Given the description of an element on the screen output the (x, y) to click on. 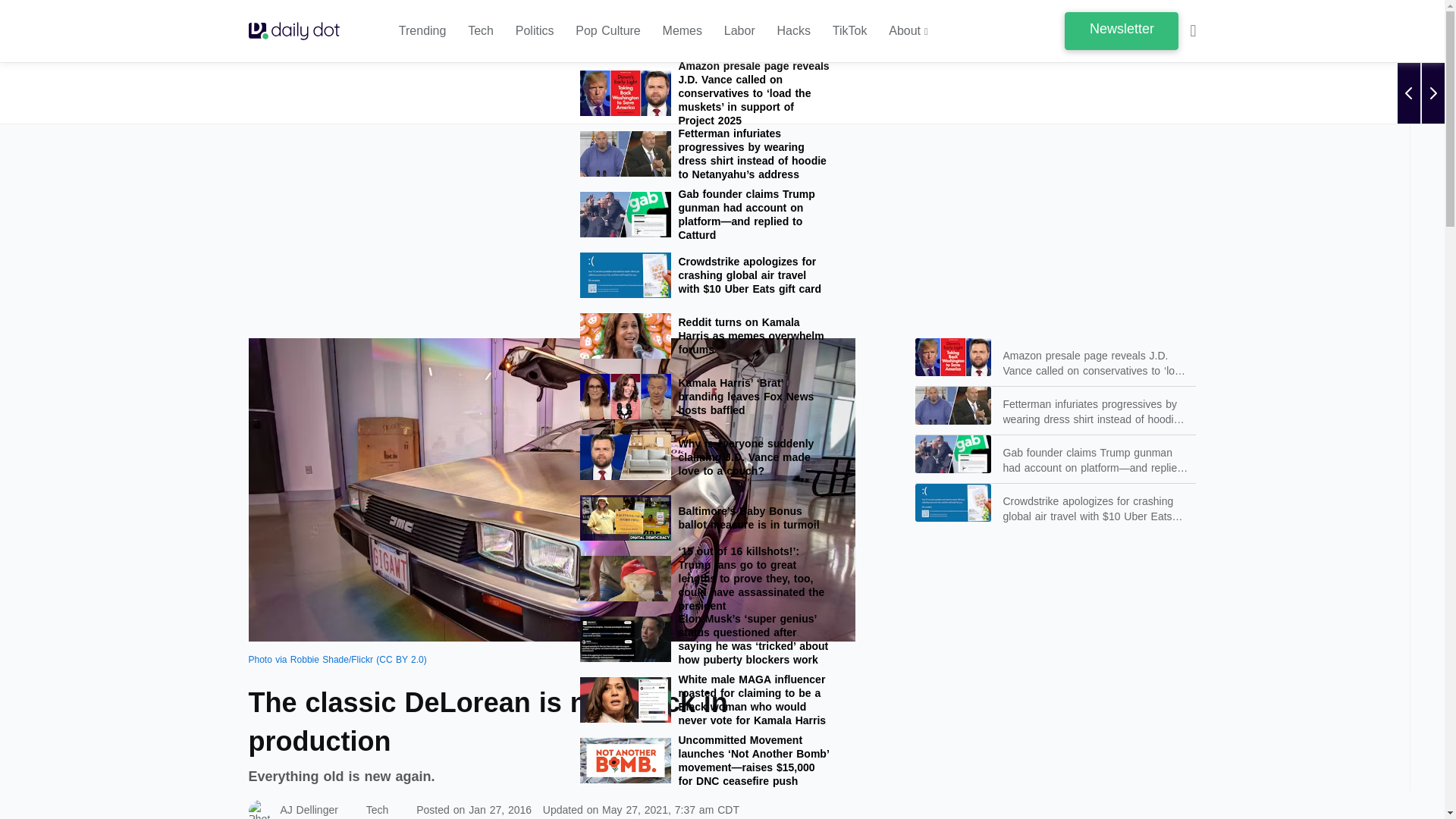
Tech (480, 31)
Labor (739, 31)
Memes (681, 31)
Politics (534, 31)
Hacks (793, 31)
TikTok (849, 31)
Trending (422, 31)
Newsletter (1120, 30)
Reddit turns on Kamala Harris as memes overwhelm forums (704, 335)
About (908, 31)
Pop Culture (607, 31)
